Given the description of an element on the screen output the (x, y) to click on. 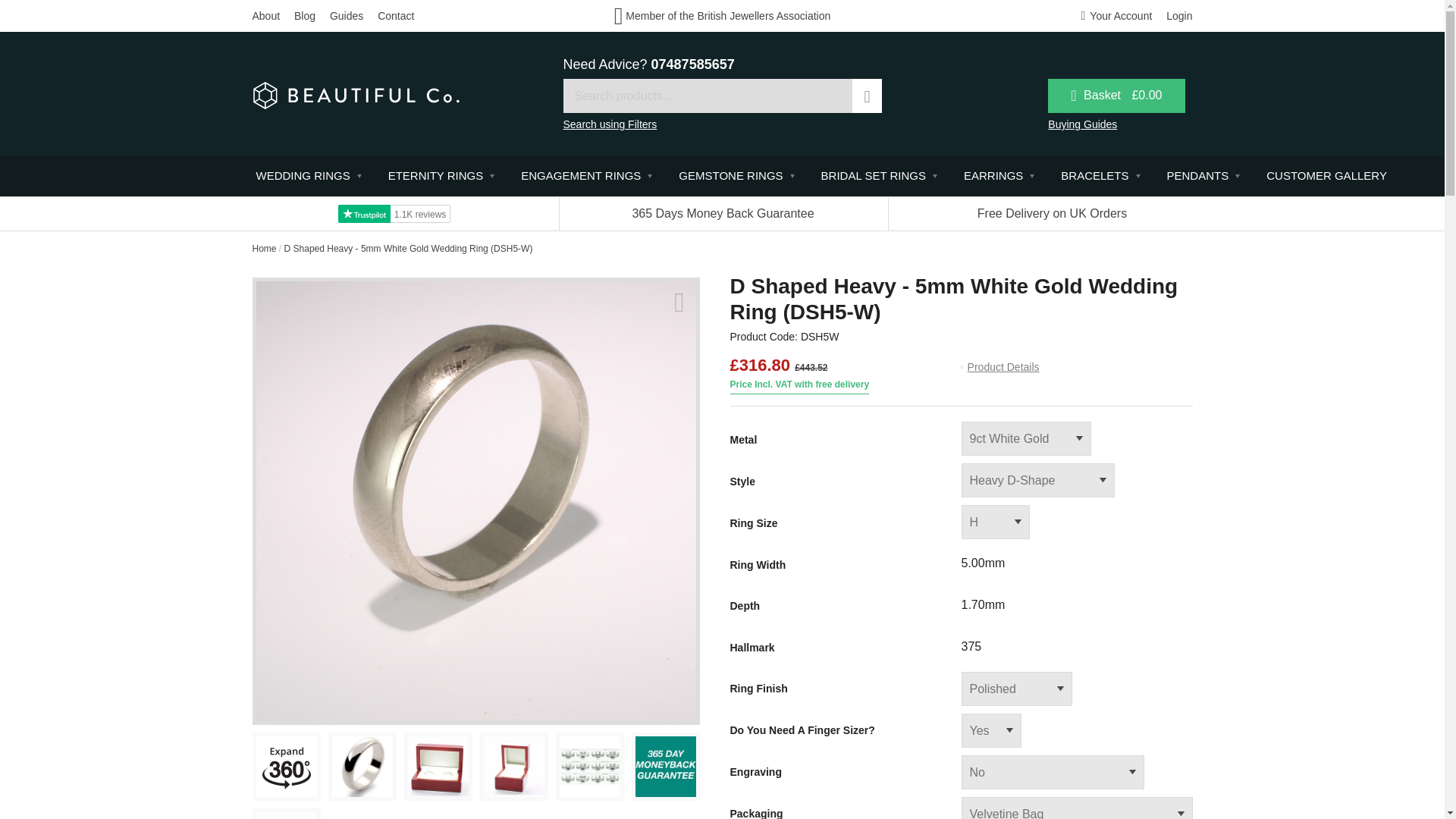
Contact (395, 15)
About (265, 15)
Member of the British Jewellers Association (722, 15)
Product Details (999, 366)
Guides (346, 15)
Call our Team (692, 64)
Login (1179, 15)
Your Account (1117, 15)
Search using Filters (609, 124)
Blog (304, 15)
07487585657 (692, 64)
ETERNITY RINGS (439, 176)
The Beautiful Company (355, 93)
Buying Guides (1082, 124)
WEDDING RINGS (306, 176)
